Given the description of an element on the screen output the (x, y) to click on. 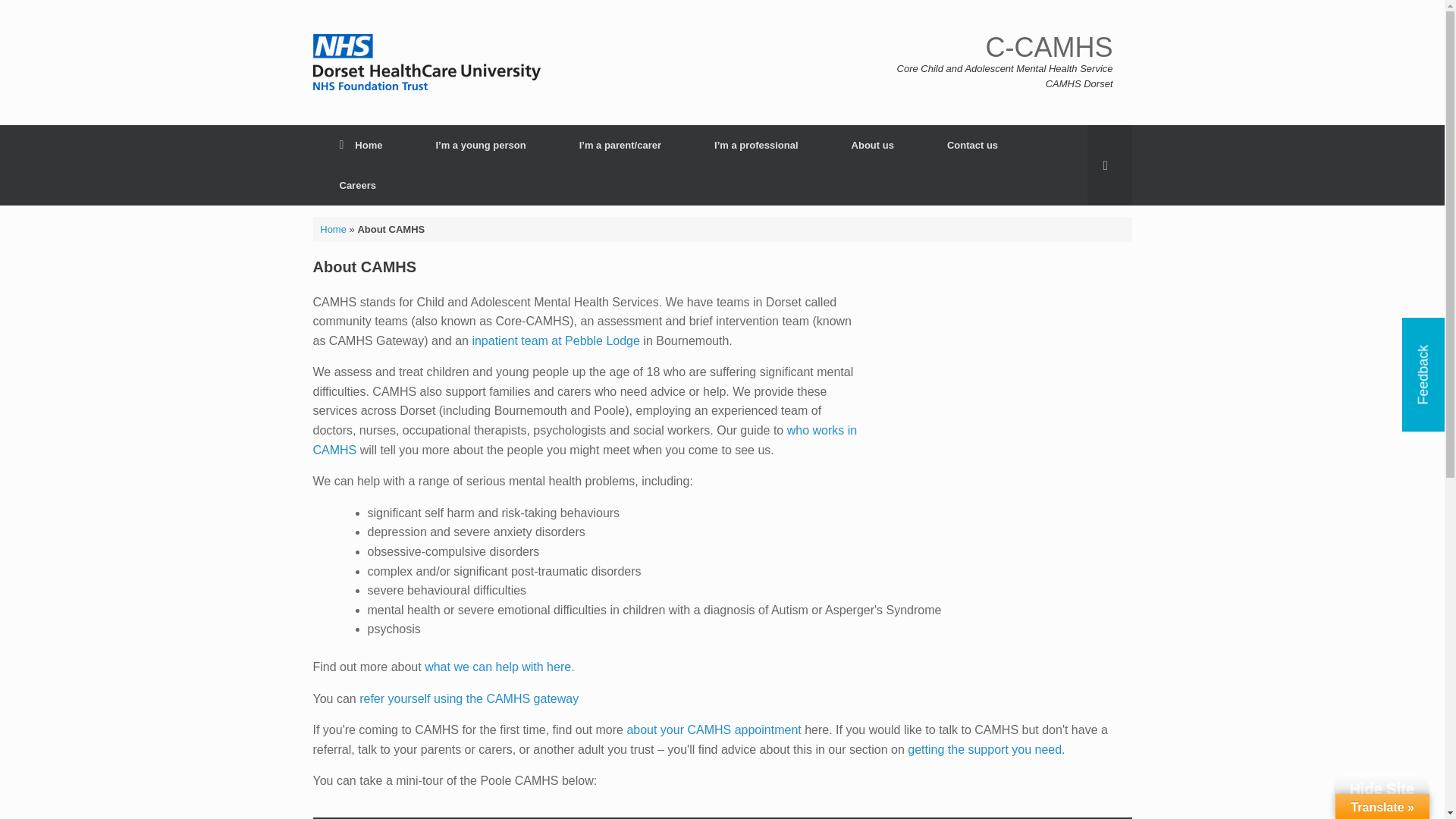
inpatient team at Pebble Lodge (555, 340)
Home (333, 228)
CAMHS Dorset (426, 62)
Careers (357, 185)
Home (361, 145)
Contact us (972, 145)
what we can help with here. (499, 666)
who works in CAMHS (585, 440)
About us (872, 145)
Hide Site (1381, 788)
